Given the description of an element on the screen output the (x, y) to click on. 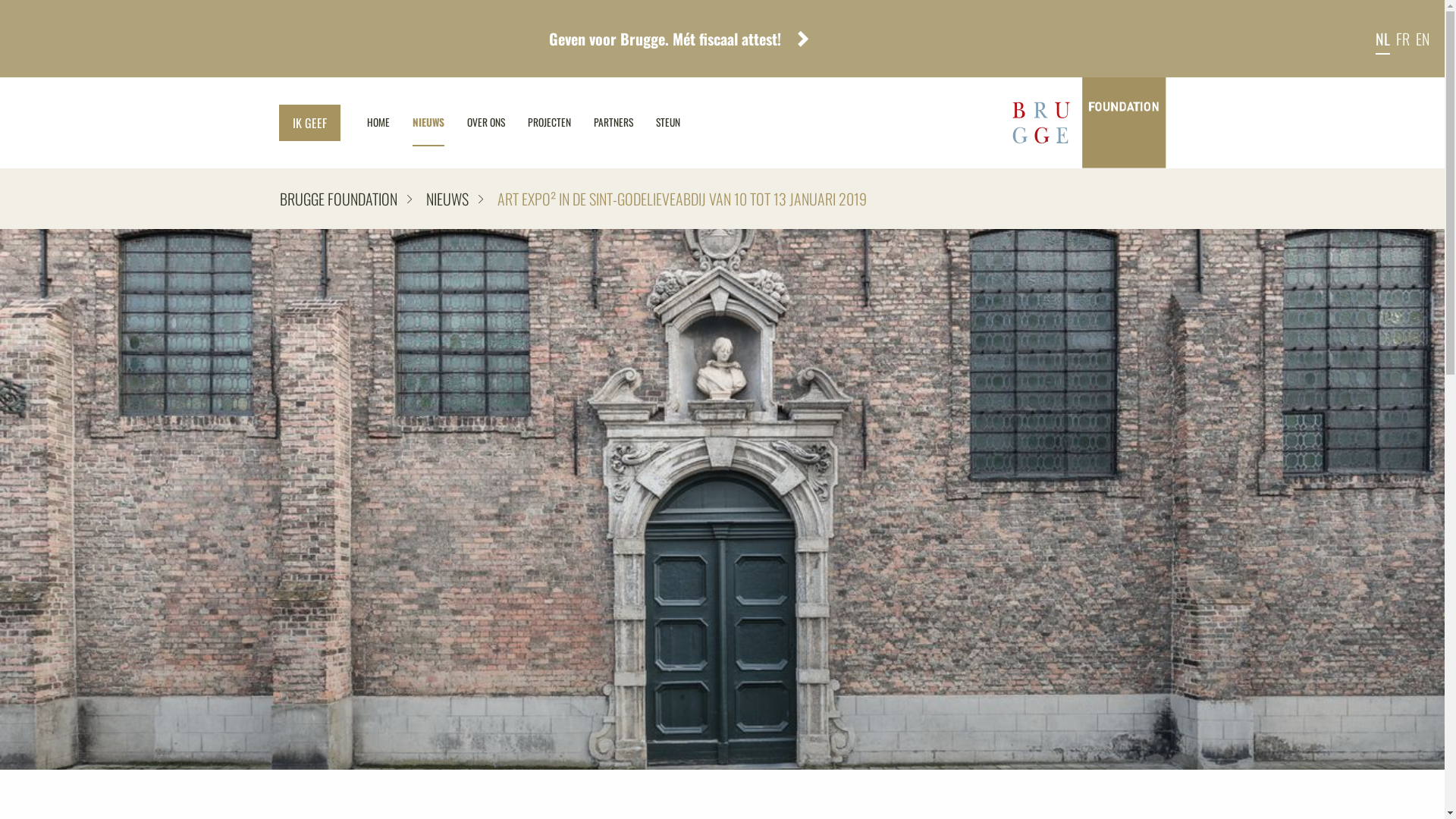
NIEUWS Element type: text (446, 198)
STEUN Element type: text (667, 122)
EN Element type: text (1422, 38)
FR Element type: text (1402, 38)
NIEUWS Element type: text (427, 122)
PARTNERS Element type: text (613, 122)
BRUGGE FOUNDATION Element type: text (345, 198)
NL Element type: text (1382, 38)
OVER ONS Element type: text (485, 122)
PROJECTEN Element type: text (548, 122)
IK GEEF Element type: text (309, 122)
HOME Element type: text (377, 122)
